Given the description of an element on the screen output the (x, y) to click on. 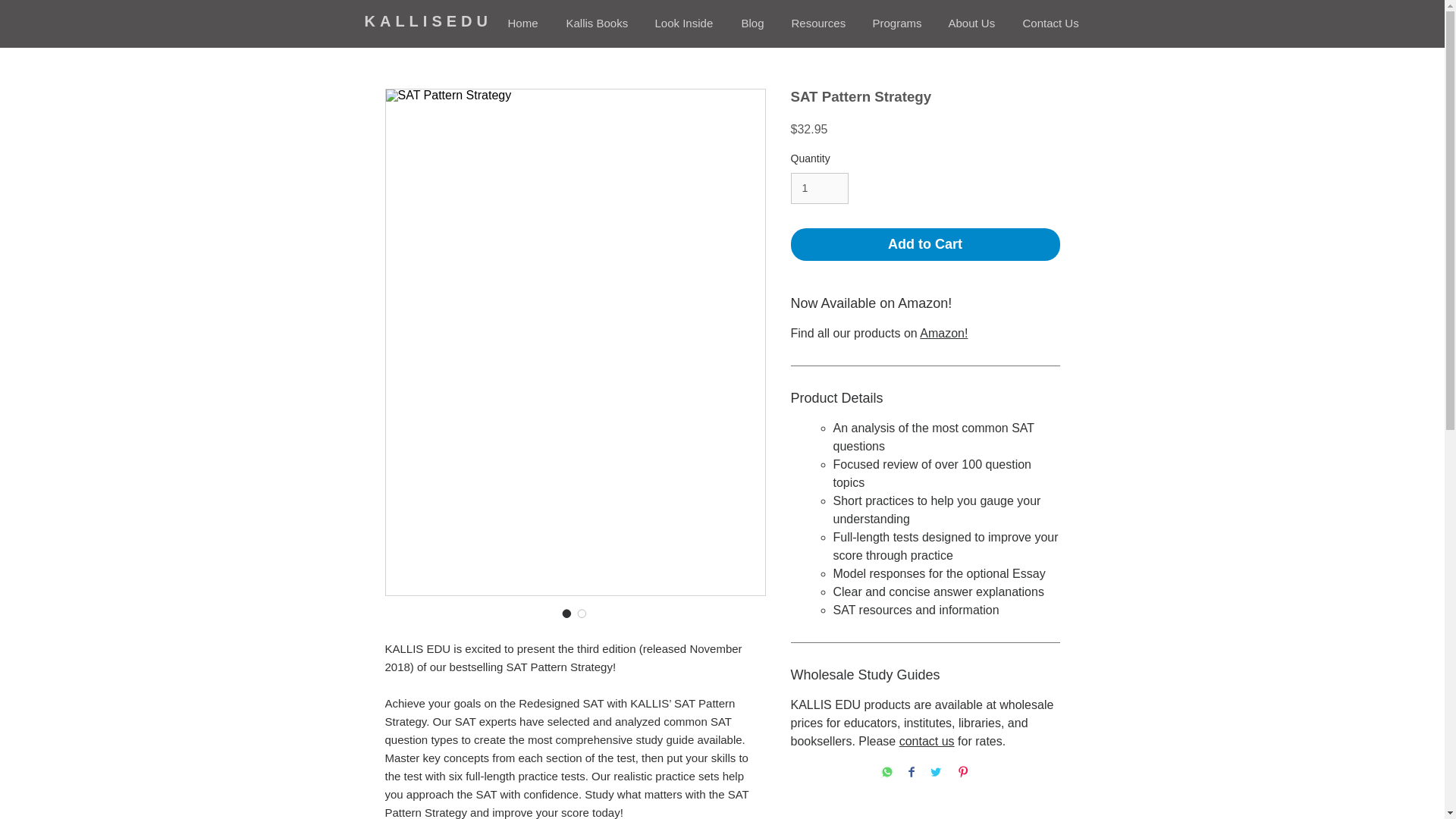
Amazon! (944, 332)
1 (818, 187)
Add to Cart (924, 244)
KALLISEDU (428, 21)
Blog (753, 23)
About Us (974, 23)
Look Inside (686, 23)
Contact Us (1052, 23)
Home (525, 23)
contact us (927, 740)
